Given the description of an element on the screen output the (x, y) to click on. 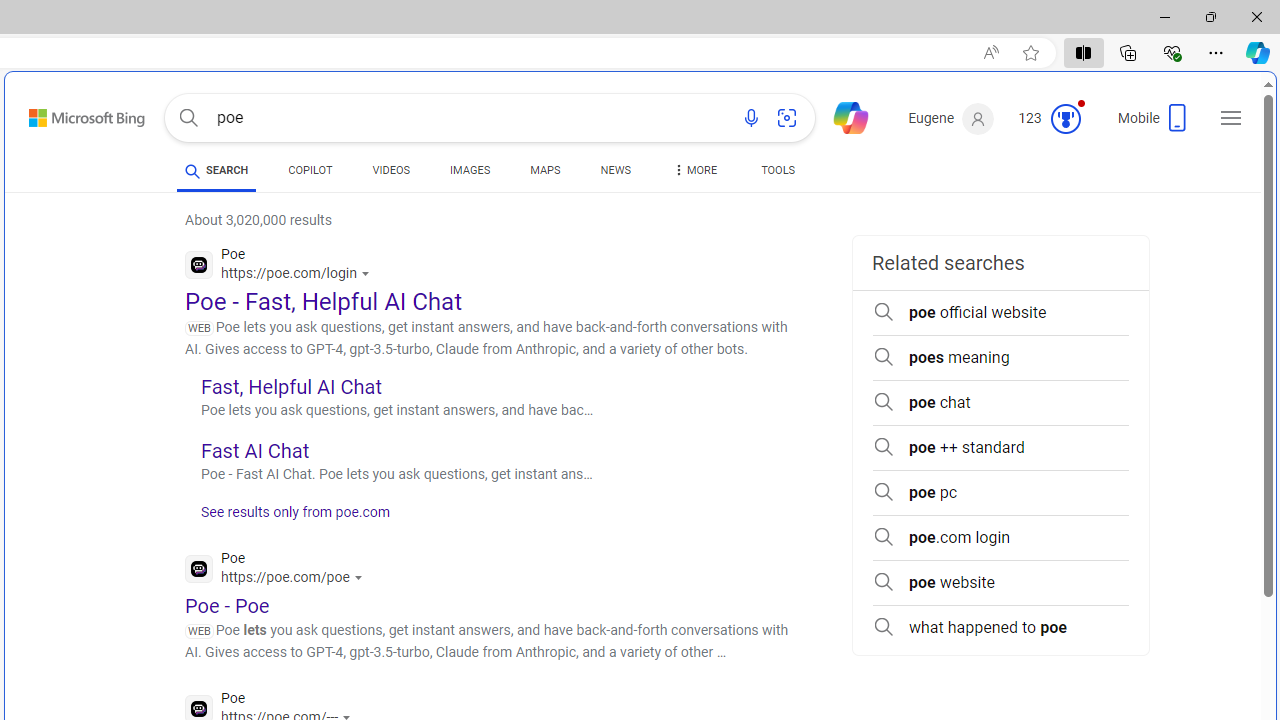
Search button (188, 117)
poe website (1000, 582)
what happened to poe (1000, 628)
poe pc (1000, 492)
poe official website (1000, 312)
VIDEOS (390, 170)
Search using voice (751, 117)
Poe (278, 569)
Global web icon (198, 708)
Skip to content (65, 111)
poes meaning (1000, 358)
Dropdown Menu (693, 170)
